Given the description of an element on the screen output the (x, y) to click on. 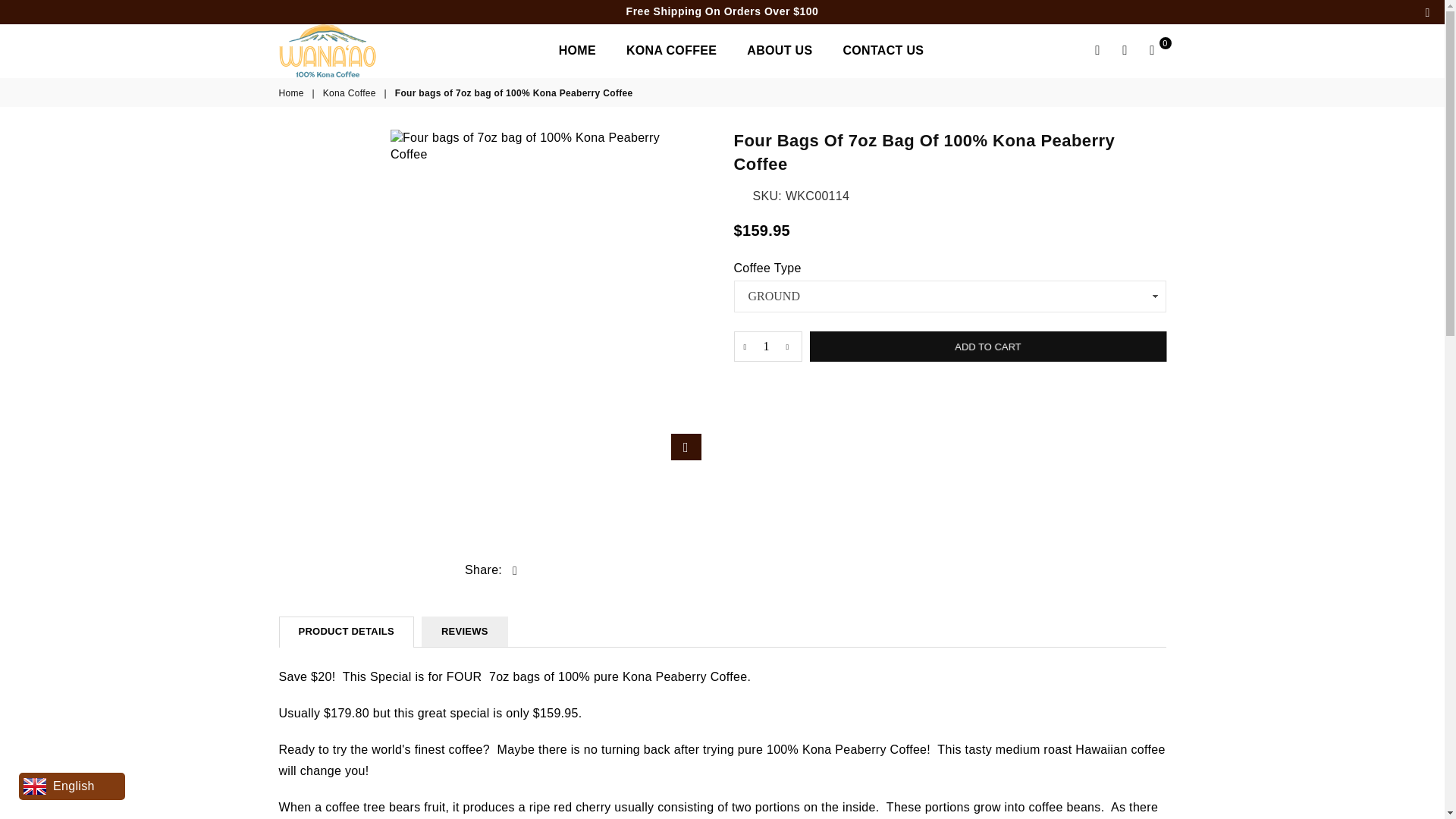
WANA'AO KONA COFFEE (365, 50)
Back to the home page (292, 92)
Settings (1125, 50)
CONTACT US (882, 51)
KONA COFFEE (671, 51)
Kona Coffee (350, 92)
Search (1098, 50)
0 (1152, 50)
HOME (577, 51)
ADD TO CART (987, 346)
REVIEWS (465, 631)
Cart (1152, 50)
PRODUCT DETAILS (346, 631)
Home (292, 92)
Quantity (767, 346)
